Given the description of an element on the screen output the (x, y) to click on. 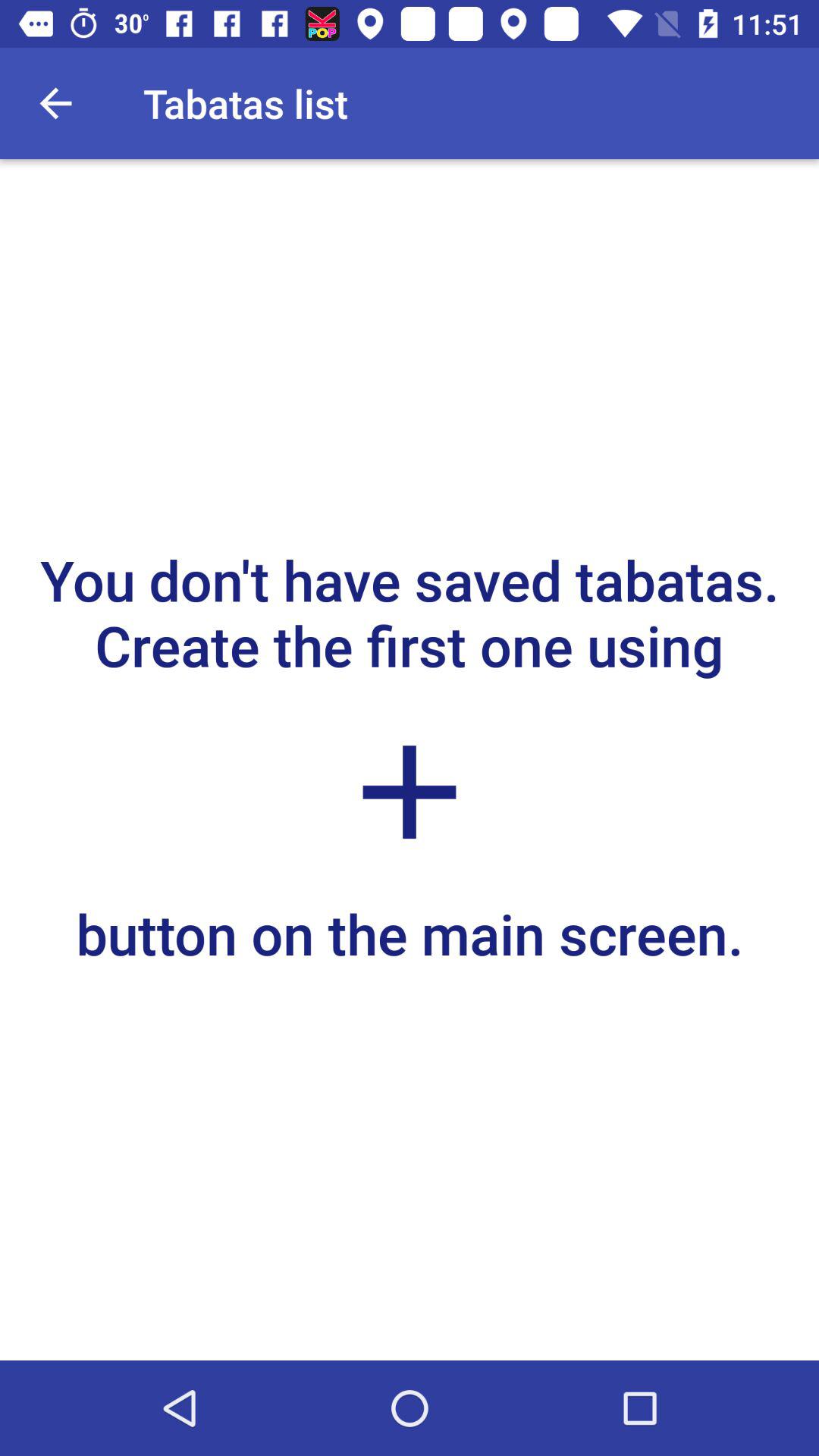
choose icon to the left of tabatas list item (55, 103)
